Given the description of an element on the screen output the (x, y) to click on. 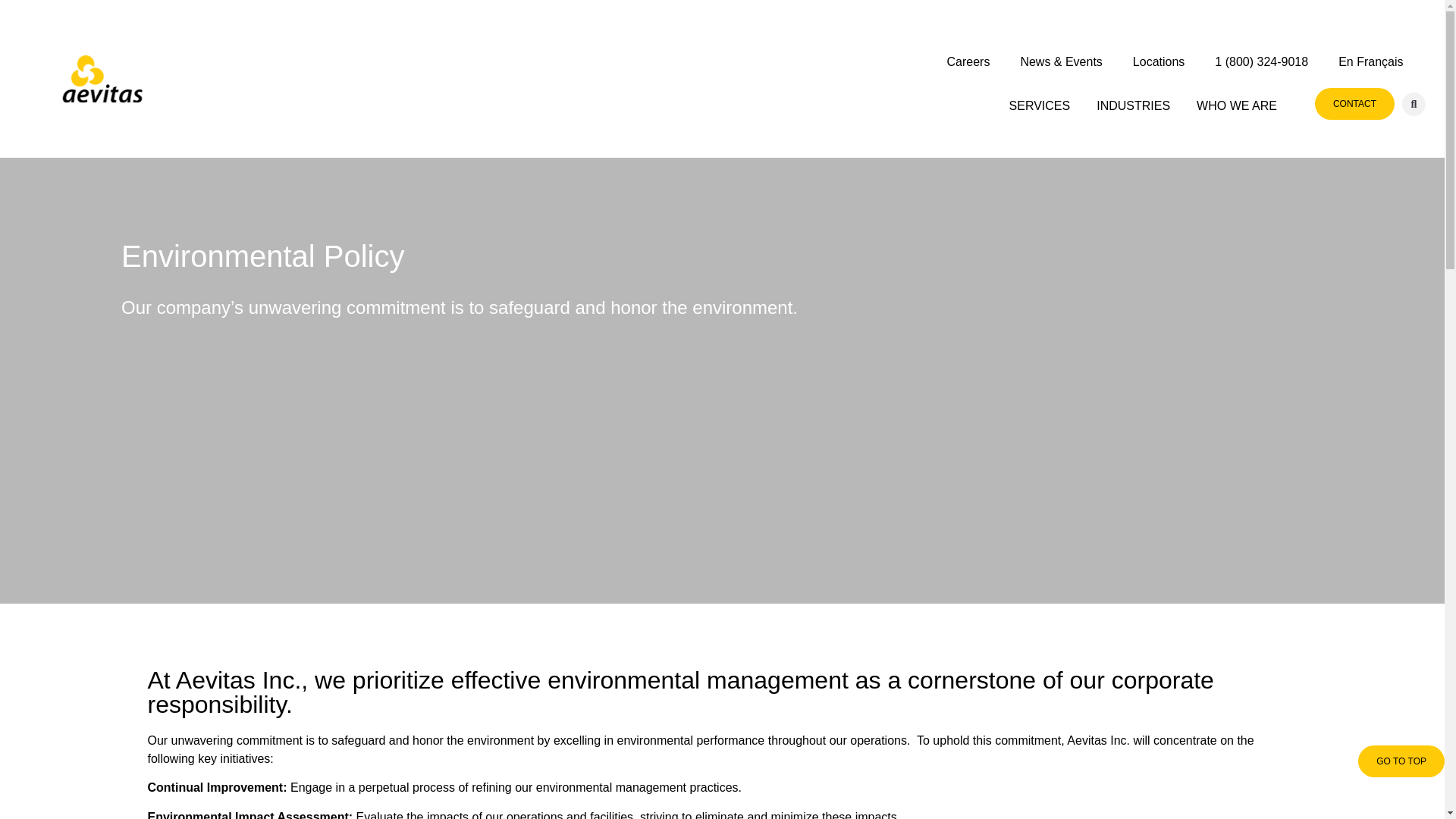
INDUSTRIES (1133, 105)
Locations (1157, 62)
SERVICES (1039, 105)
Careers (967, 62)
